Given the description of an element on the screen output the (x, y) to click on. 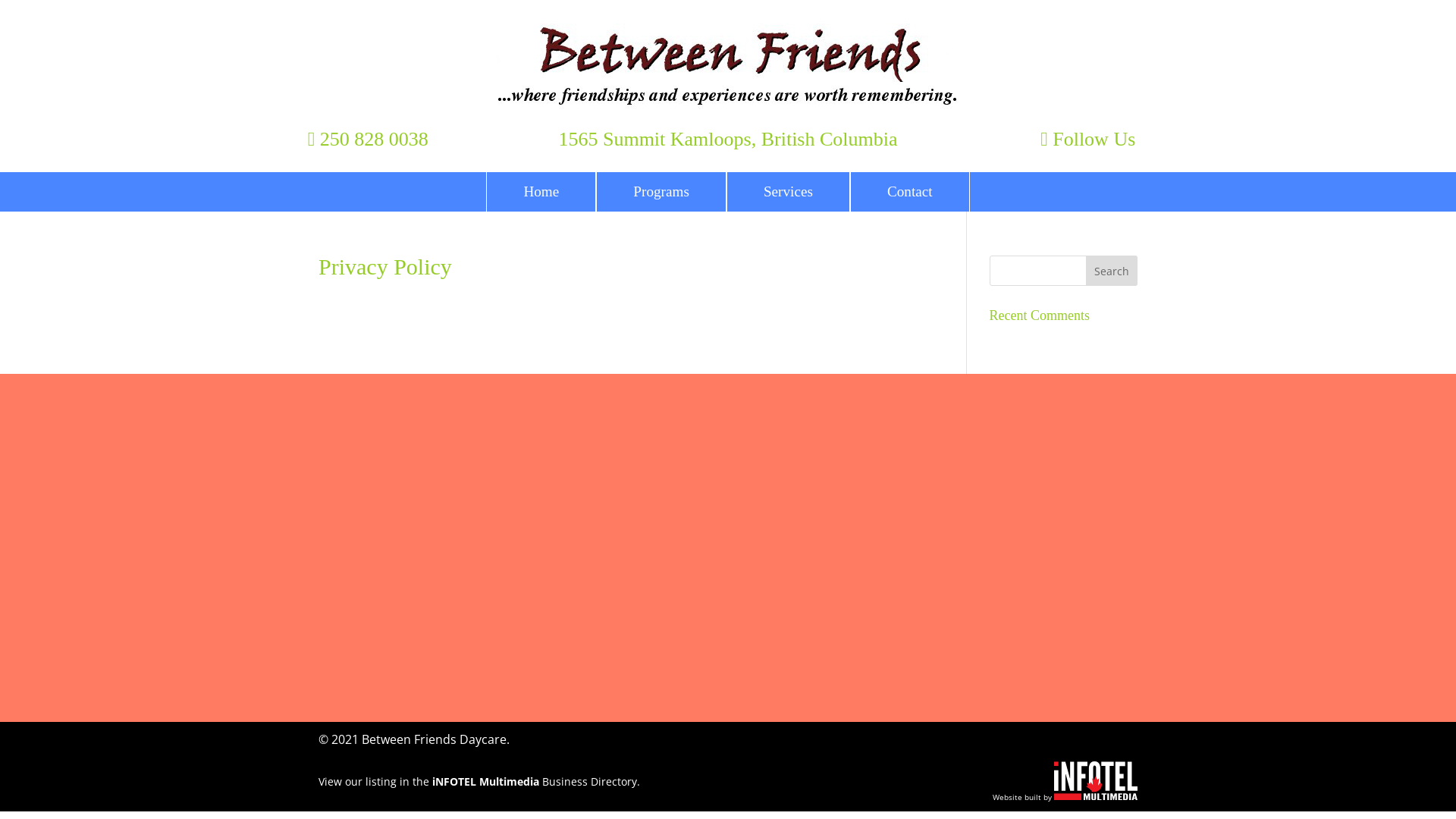
Services Element type: text (788, 191)
iNFOTEL Multimedia | Your online business experts Element type: hover (1095, 795)
Search Element type: text (1111, 270)
Contact Element type: text (909, 191)
Follow Us Element type: text (1087, 139)
Programs Element type: text (660, 191)
250 828 0038 Element type: text (367, 139)
Home Element type: text (540, 191)
iNFOTEL Multimedia Business Directory Element type: text (534, 781)
betweenfriendsdaycare-logo Element type: hover (728, 64)
